Given the description of an element on the screen output the (x, y) to click on. 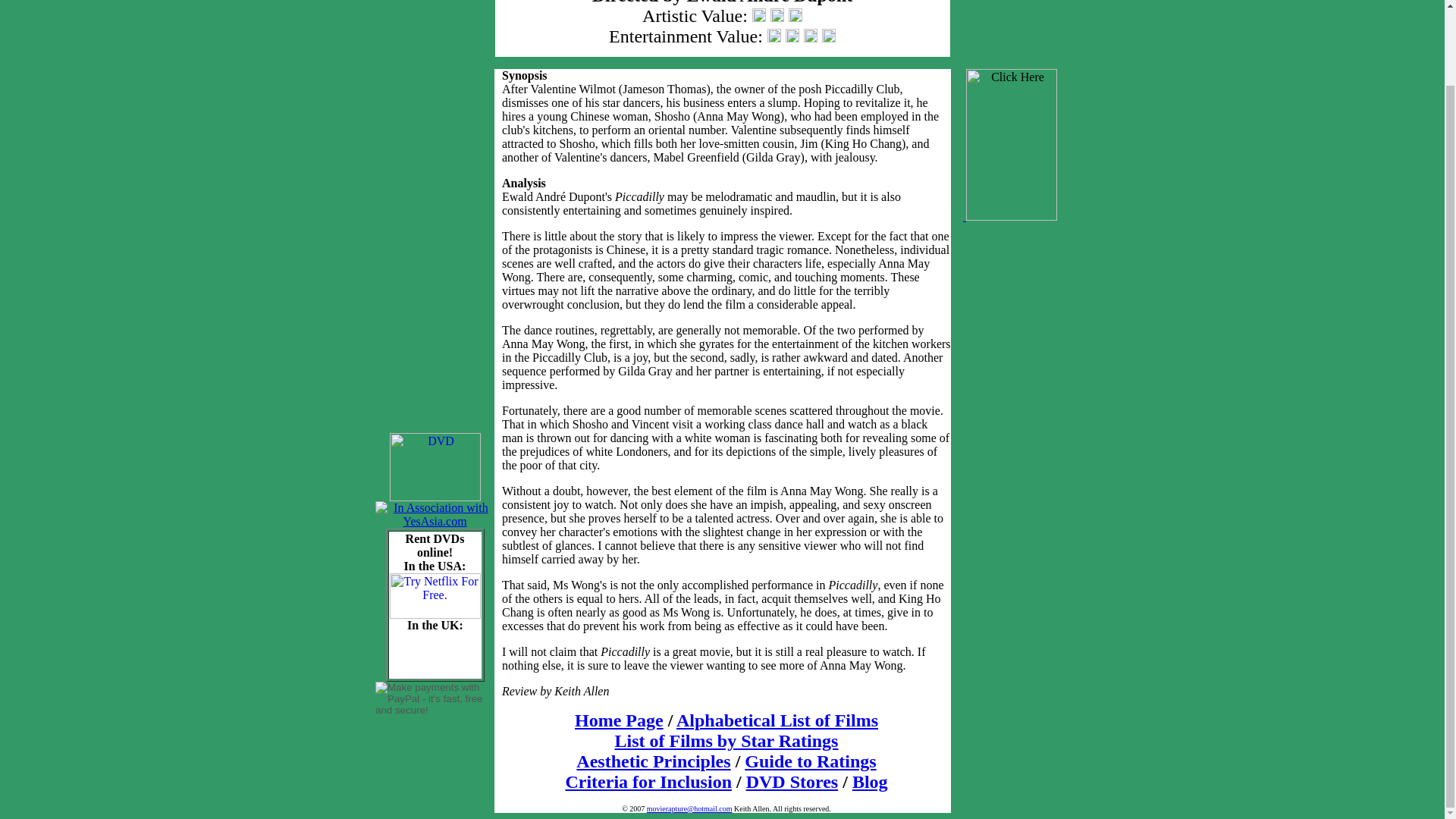
Alphabetical List of Films (777, 720)
Criteria for Inclusion (648, 781)
Blog (869, 781)
Home Page (619, 720)
Aesthetic Principles (653, 761)
List of Films by Star Ratings (726, 741)
DVD Stores (791, 781)
Guide to Ratings (810, 761)
